Given the description of an element on the screen output the (x, y) to click on. 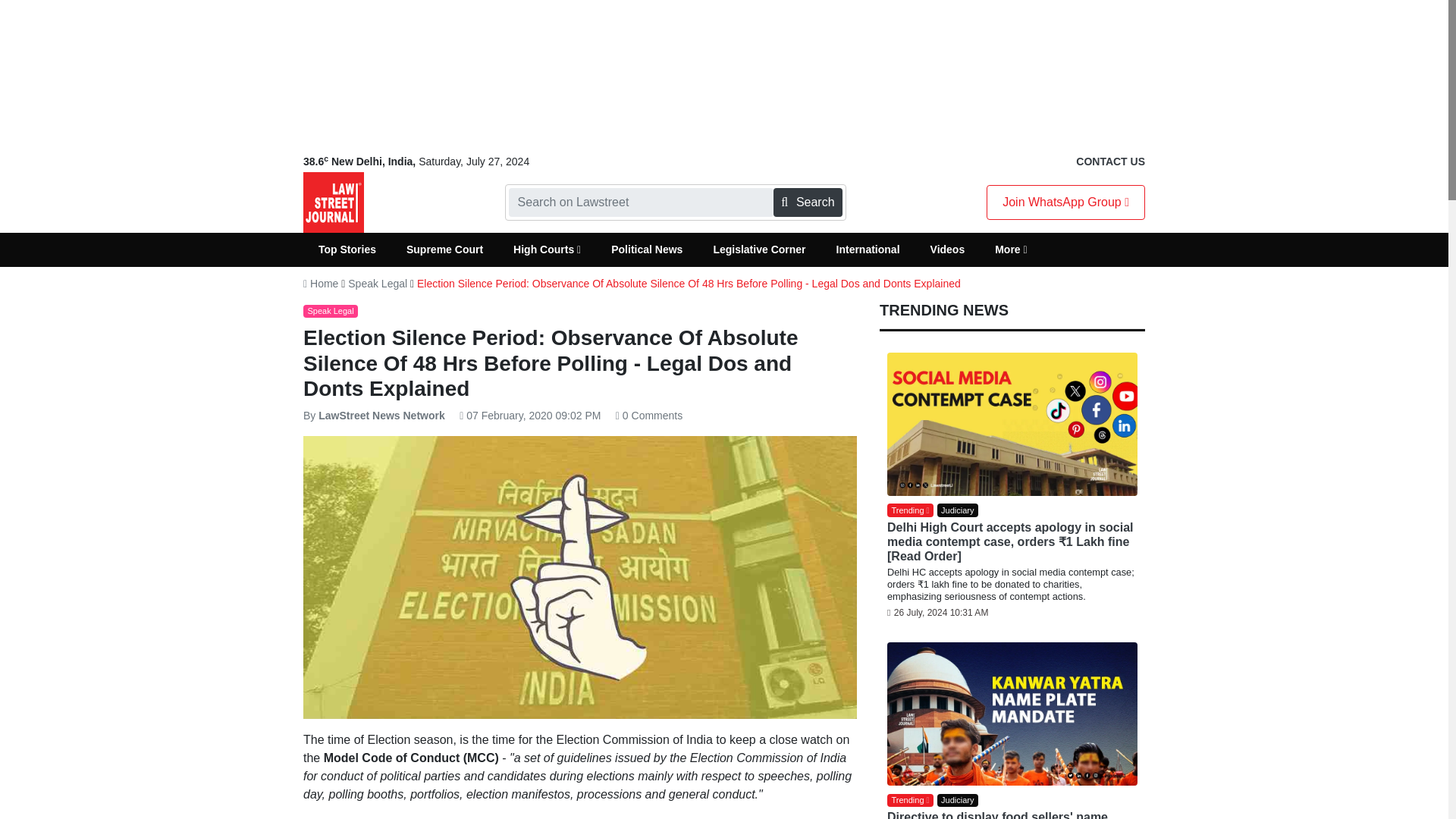
Videos (947, 249)
More (1010, 249)
Search (807, 202)
High Courts (546, 249)
LawStreet Journal (333, 201)
Join WhatsApp Group (1065, 202)
Top Stories (346, 249)
International (868, 249)
Political News (646, 249)
Supreme Court (444, 249)
CONTACT US (1109, 161)
Legislative Corner (759, 249)
